Given the description of an element on the screen output the (x, y) to click on. 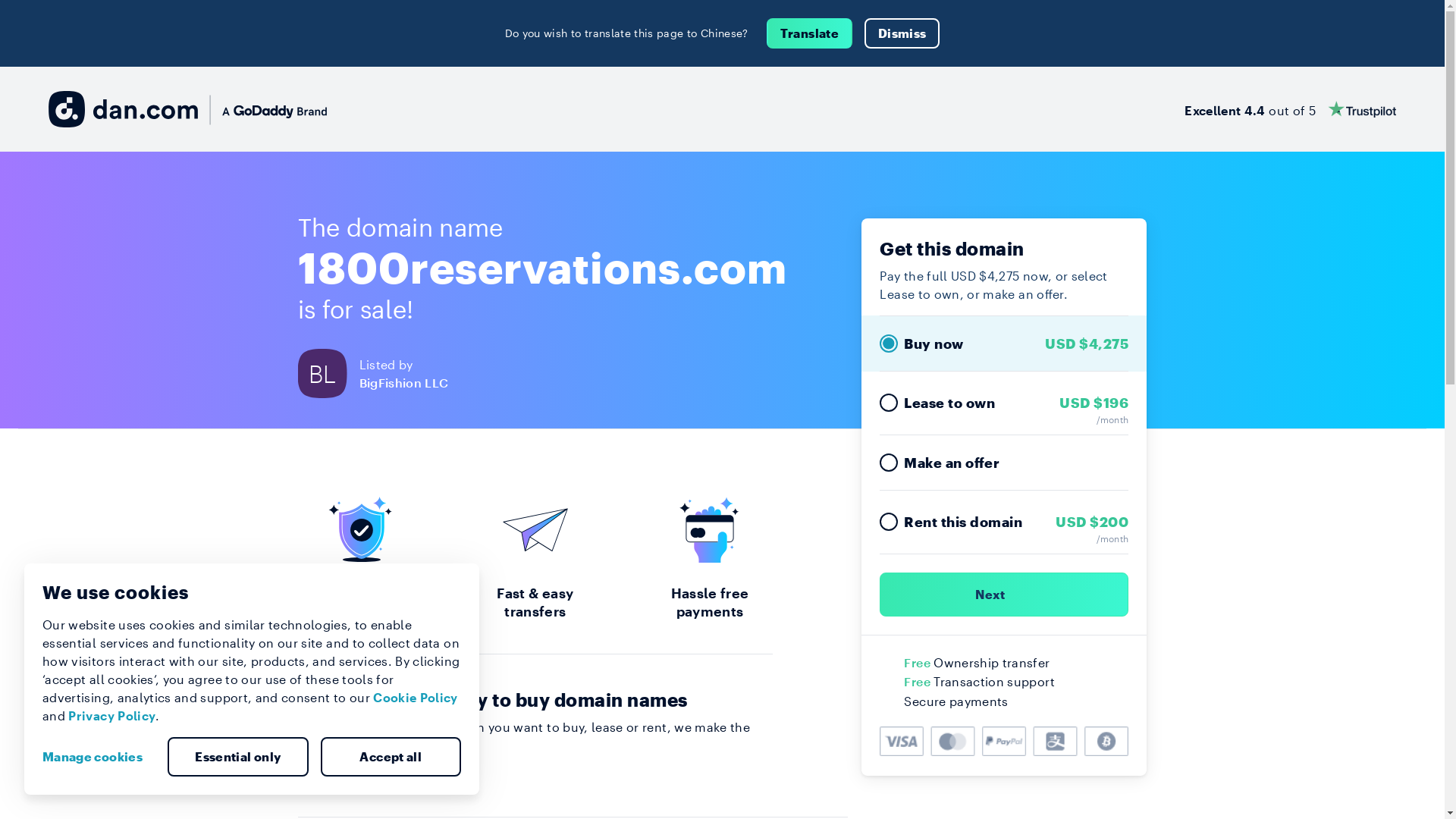
Dismiss Element type: text (901, 33)
Next
) Element type: text (1003, 594)
Privacy Policy Element type: text (111, 715)
Cookie Policy Element type: text (415, 697)
Accept all Element type: text (390, 756)
Translate Element type: text (809, 33)
Essential only Element type: text (237, 756)
Manage cookies Element type: text (98, 756)
Excellent 4.4 out of 5 Element type: text (1290, 109)
